Given the description of an element on the screen output the (x, y) to click on. 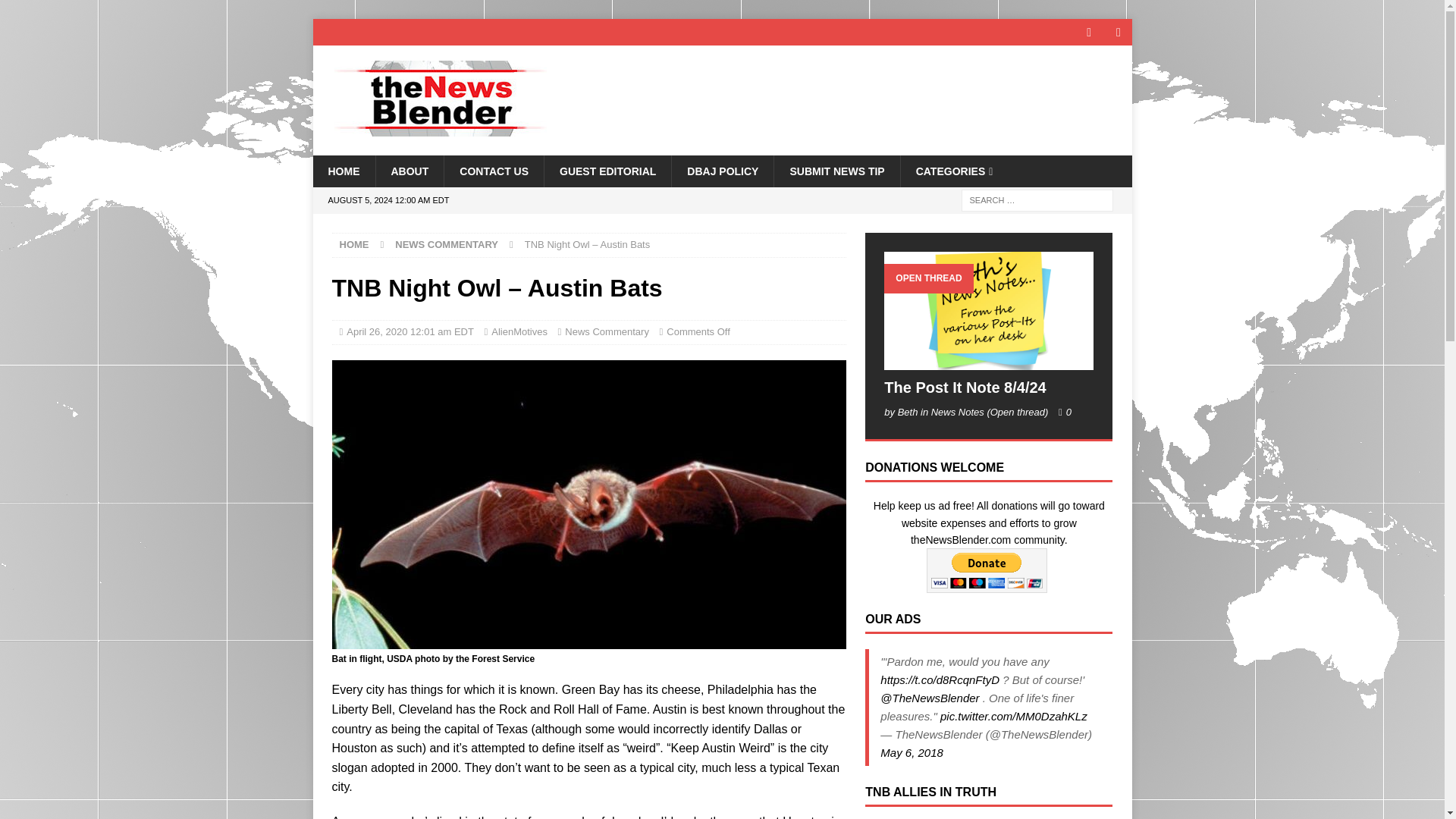
Search (56, 11)
ABOUT (409, 171)
SUBMIT NEWS TIP (836, 171)
GUEST EDITORIAL (607, 171)
DBAJ POLICY (722, 171)
CATEGORIES (954, 171)
HOME (343, 171)
CONTACT US (493, 171)
HOME (354, 244)
